Given the description of an element on the screen output the (x, y) to click on. 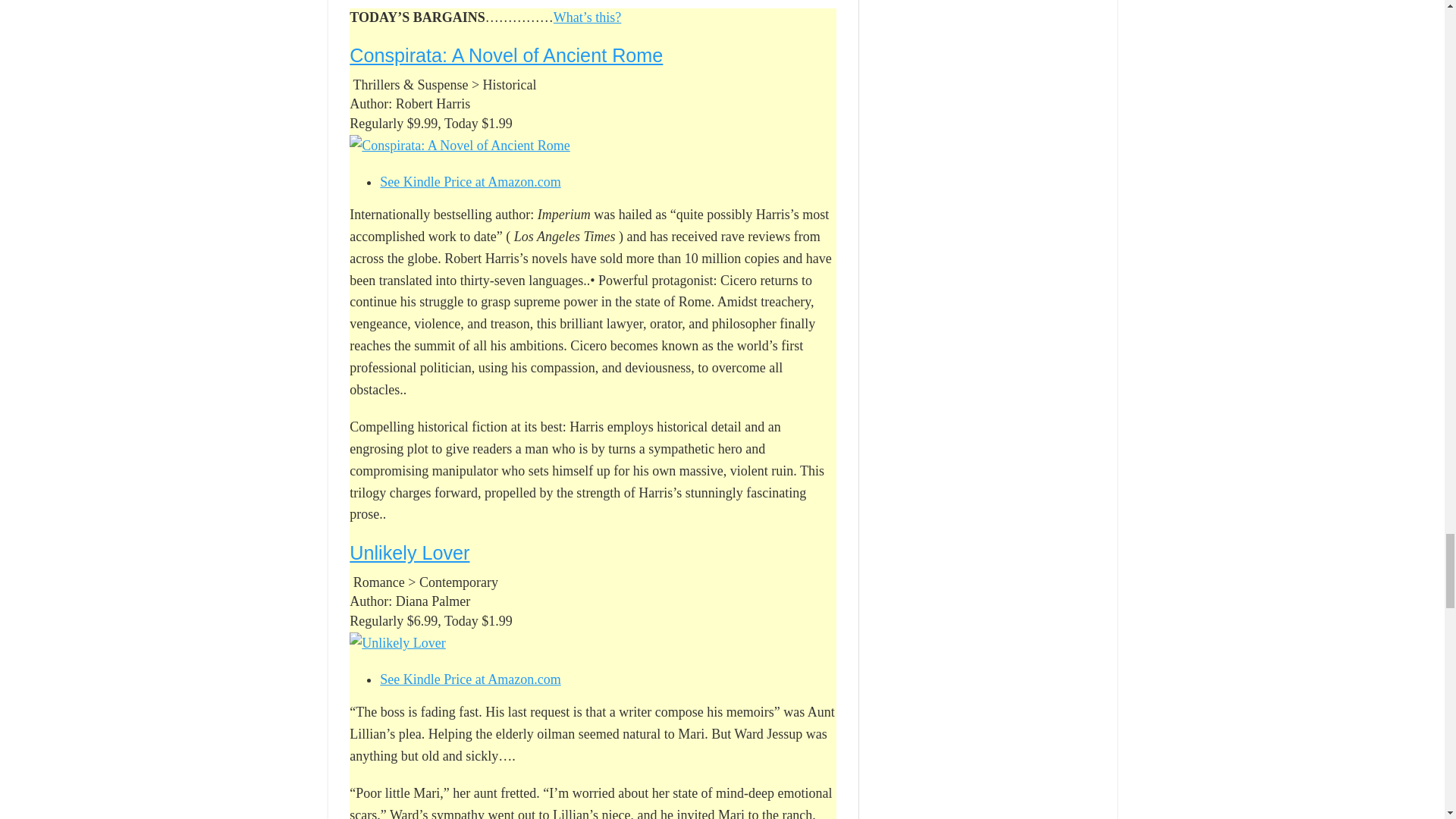
Conspirata: A Novel of Ancient Rome (505, 55)
